Given the description of an element on the screen output the (x, y) to click on. 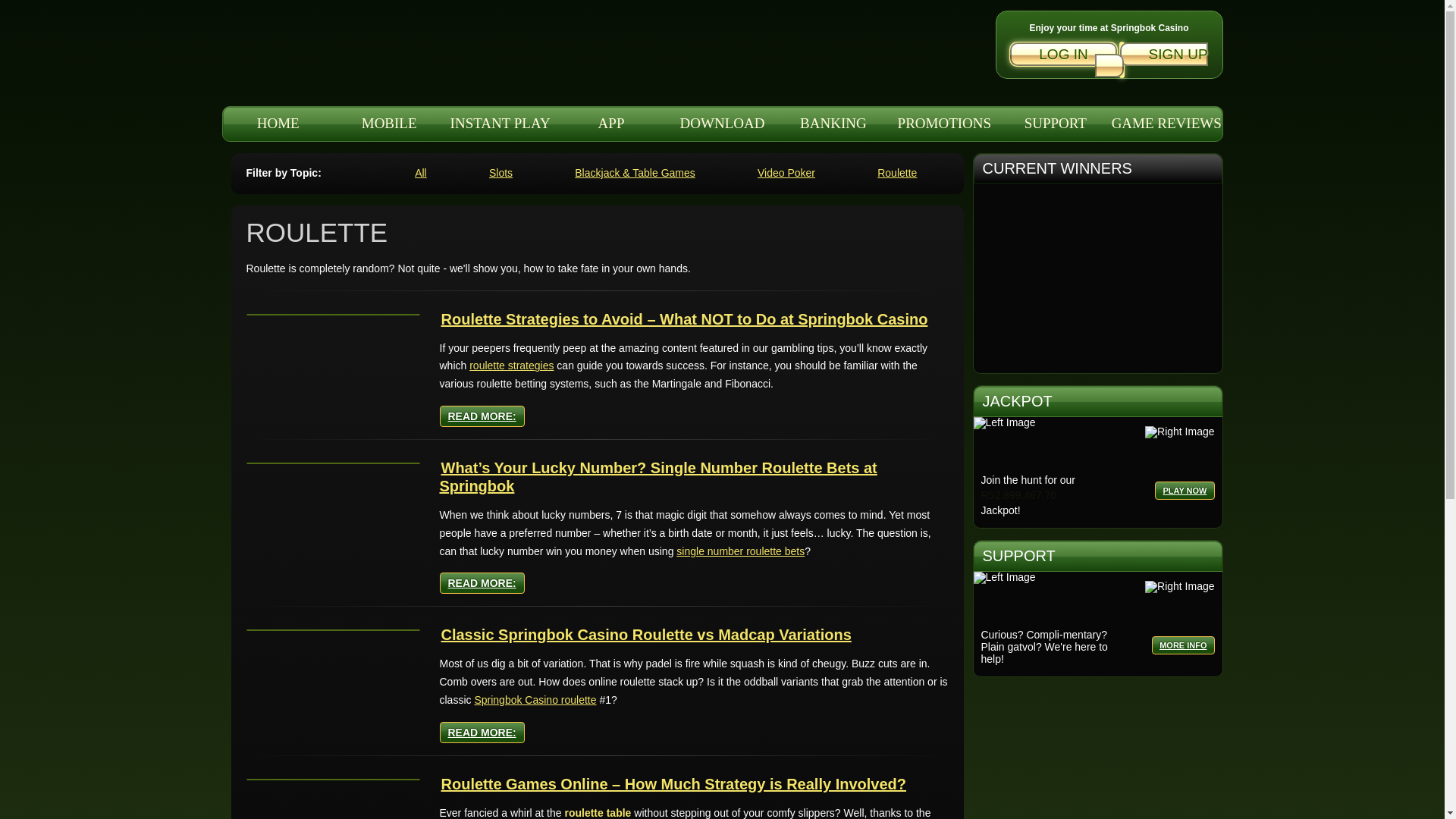
Springbok Casino South Africas best (350, 56)
Roulette (897, 173)
SIGN UP (1151, 59)
Slots (500, 173)
INSTANT PLAY (499, 123)
DOWNLOAD (721, 123)
READ MORE: (481, 582)
Classic Springbok Casino Roulette vs Madcap Variations (646, 634)
All (420, 173)
HOME (277, 123)
